Given the description of an element on the screen output the (x, y) to click on. 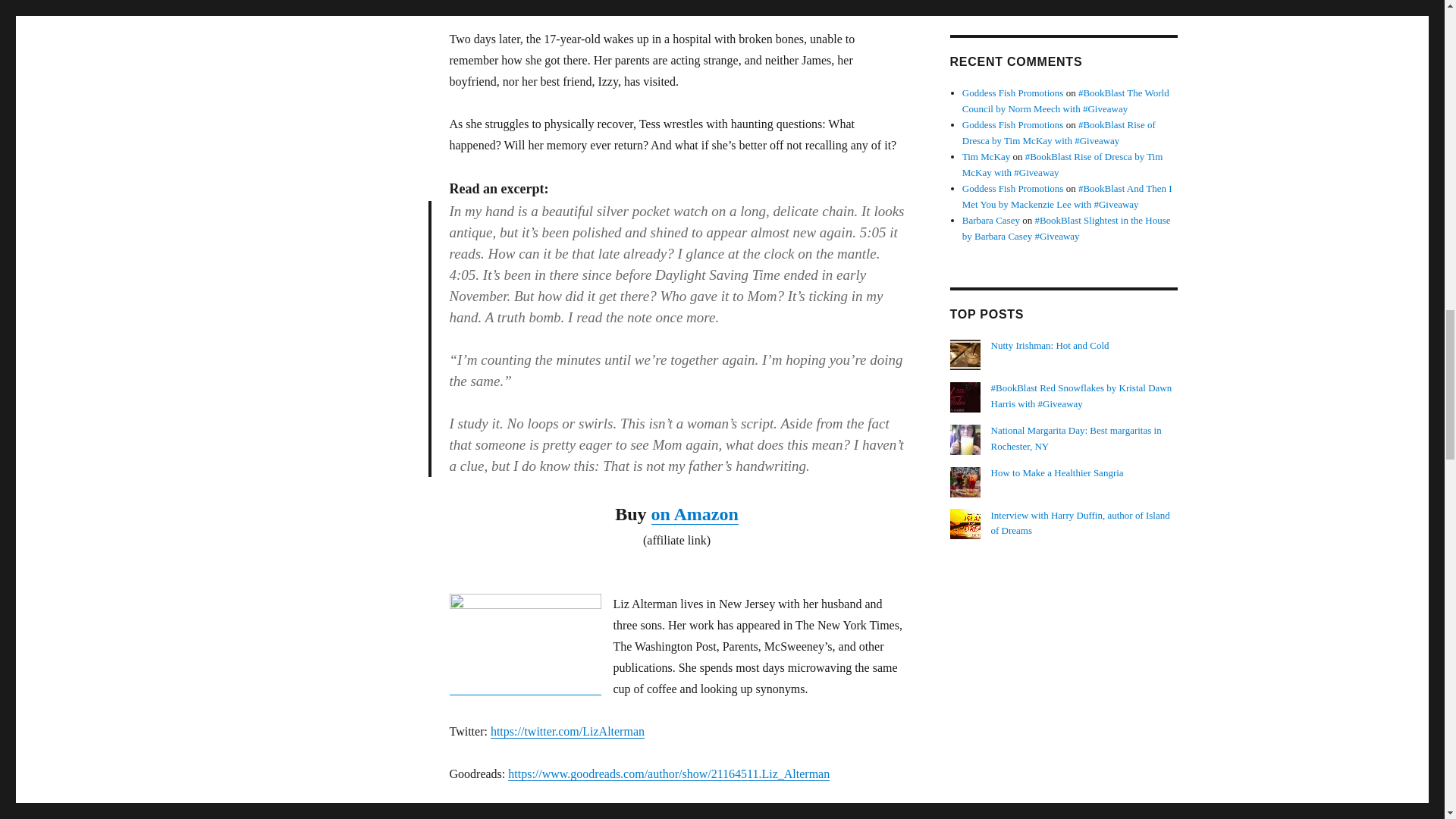
Interview with Harry Duffin, author of Island of Dreams (1080, 523)
National Margarita Day: Best margaritas in Rochester, NY (1076, 438)
on Amazon (694, 514)
How to Make a Healthier Sangria (1057, 472)
Nutty Irishman: Hot and Cold (1050, 345)
